Given the description of an element on the screen output the (x, y) to click on. 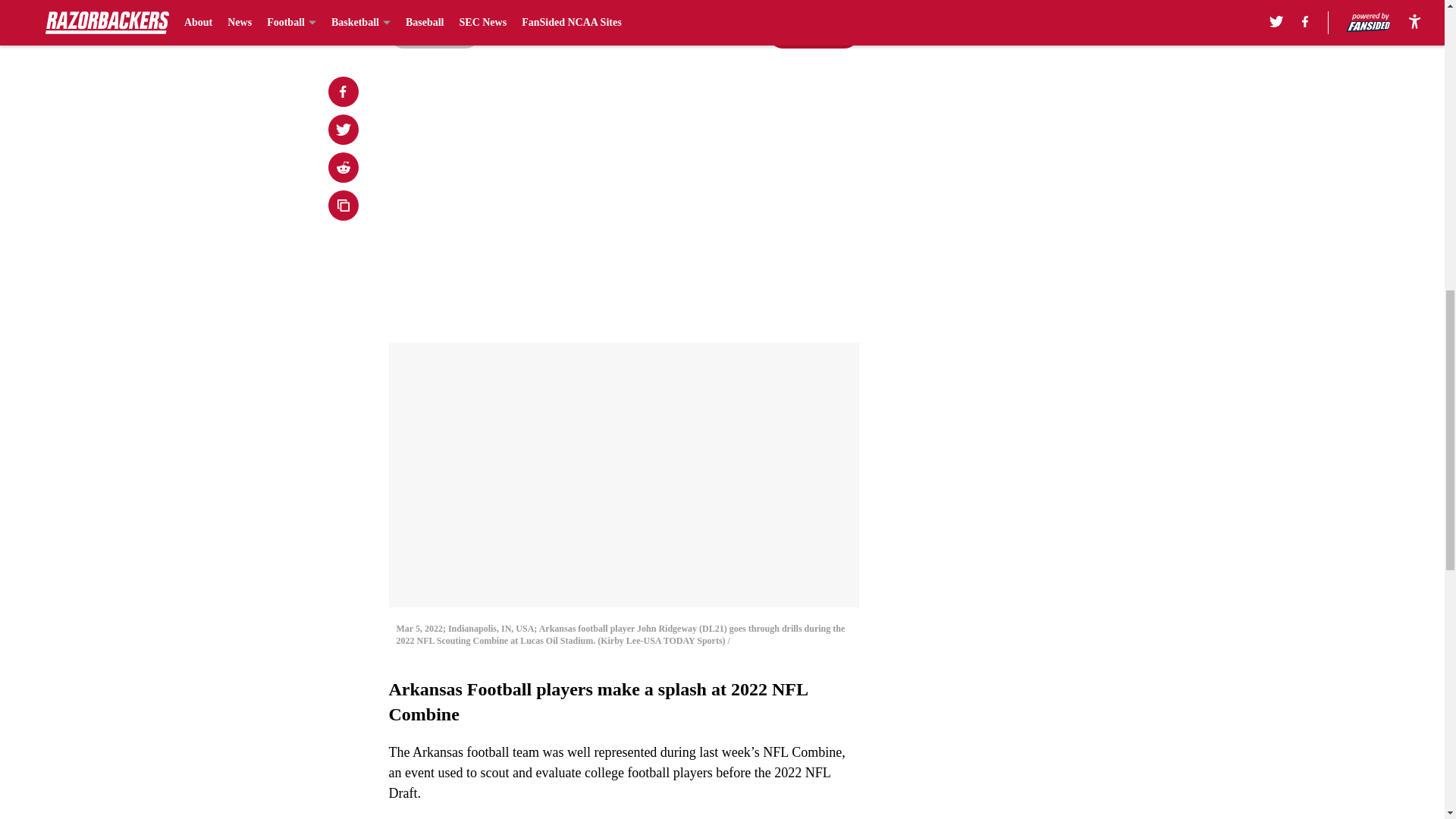
Prev (433, 33)
Next (813, 33)
